Given the description of an element on the screen output the (x, y) to click on. 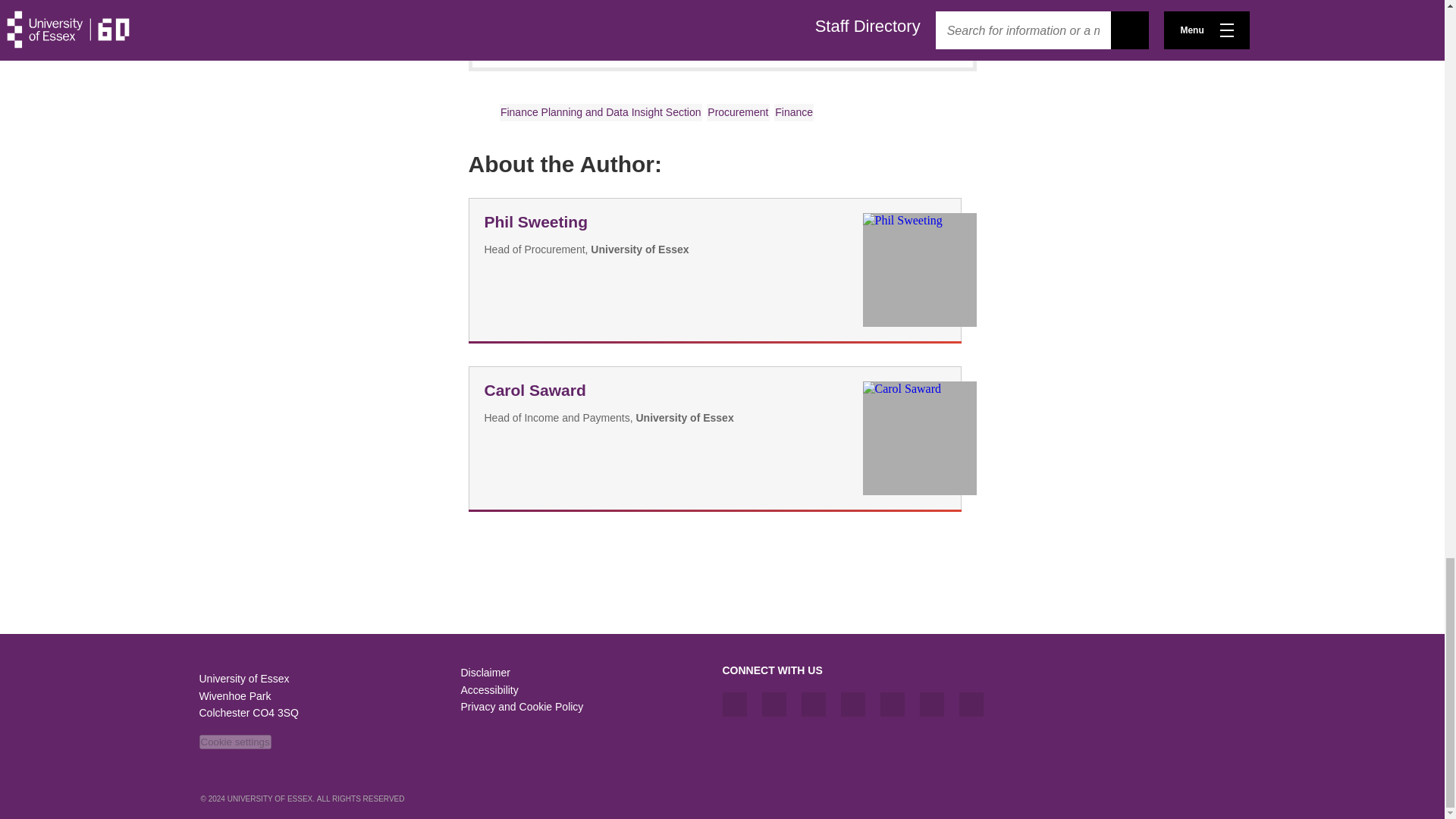
UNRVLD Digital Agency website (1214, 799)
